Given the description of an element on the screen output the (x, y) to click on. 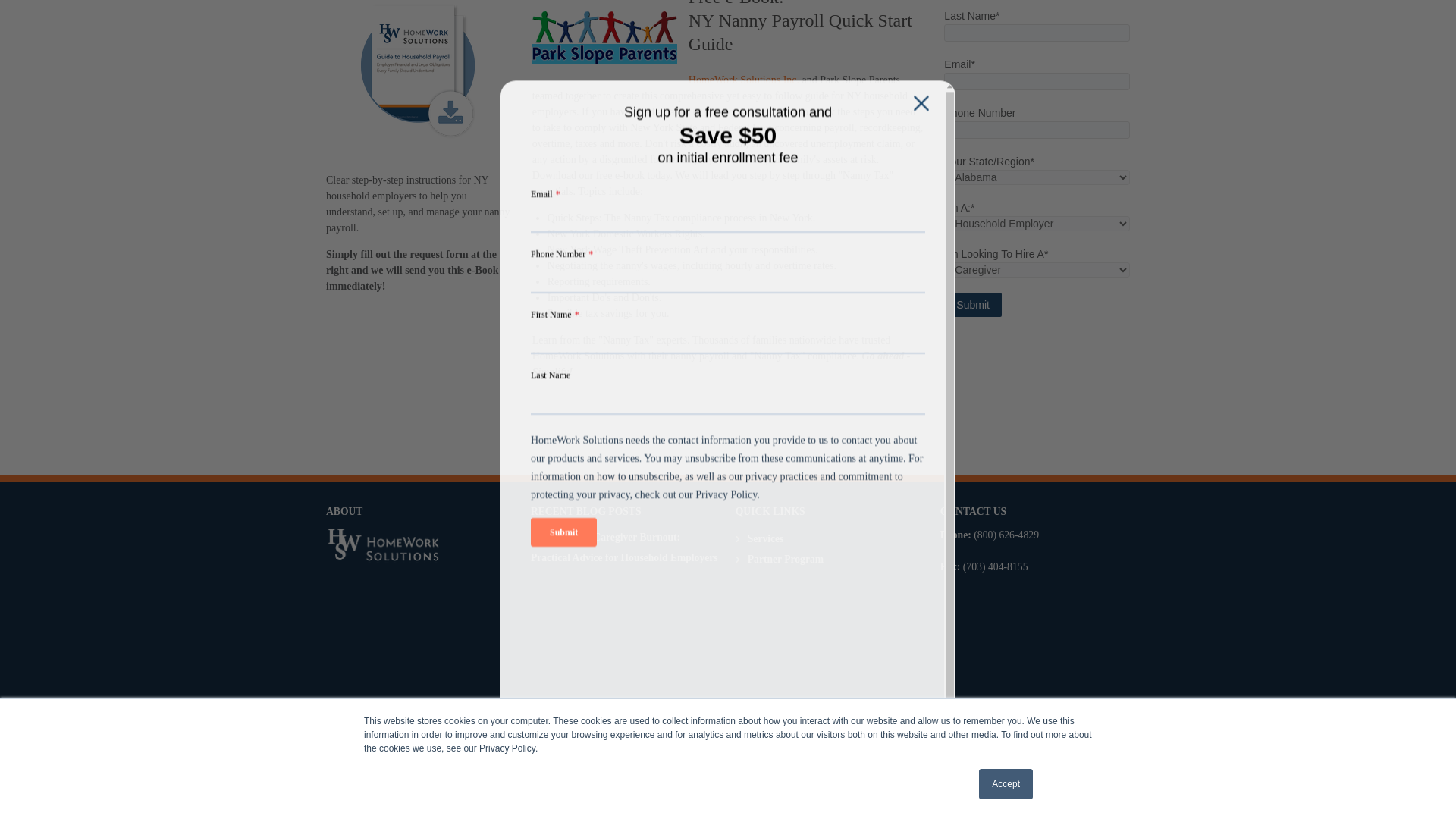
Submit (972, 304)
Accept (1005, 528)
